Given the description of an element on the screen output the (x, y) to click on. 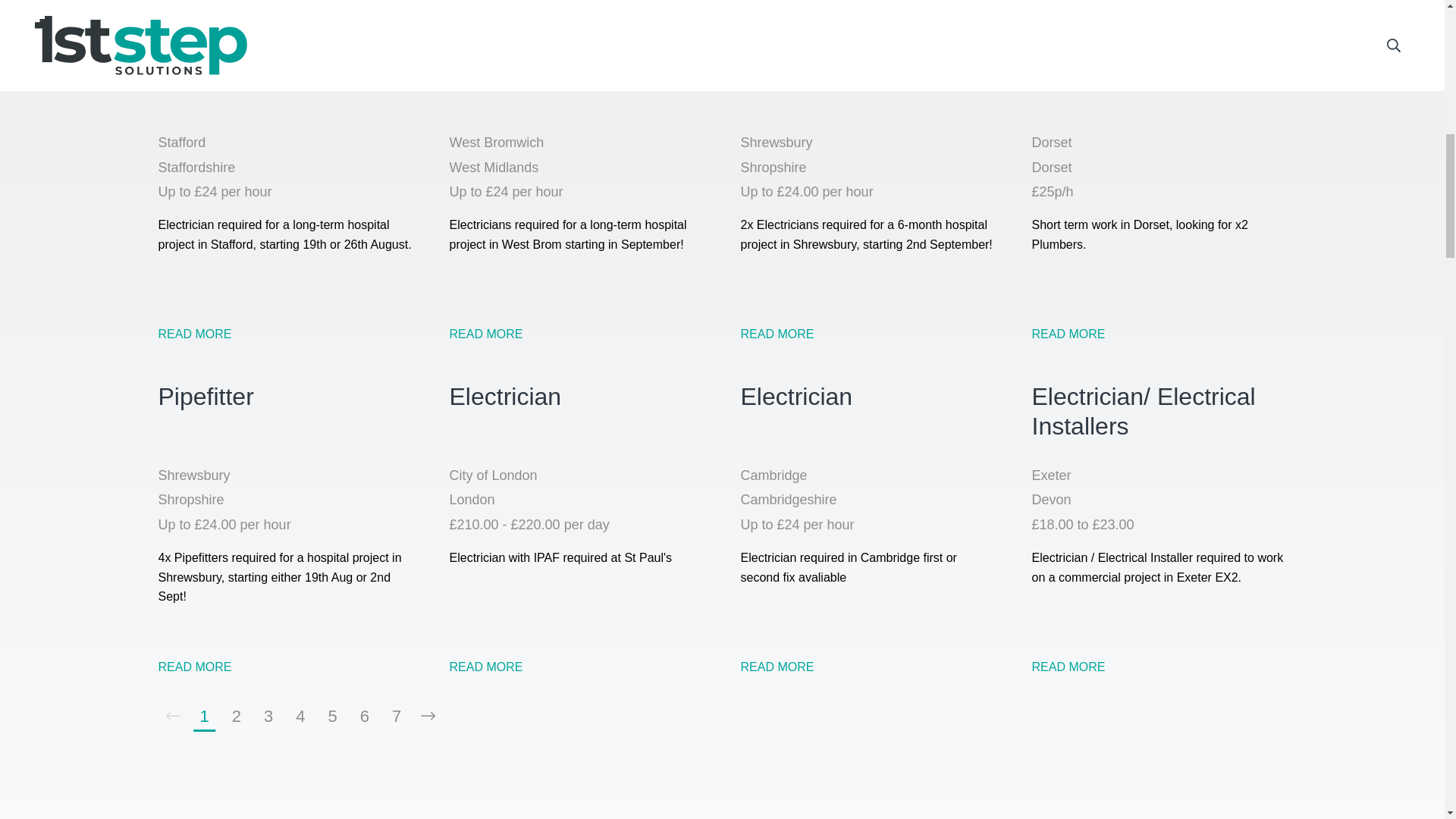
Electrician (866, 411)
READ MORE (776, 666)
READ MORE (1067, 666)
4 (299, 716)
Electrician (866, 78)
6 (364, 716)
Plumbers (1157, 78)
READ MORE (485, 666)
3 (267, 716)
READ MORE (776, 333)
7 (396, 716)
2 (236, 716)
READ MORE (194, 333)
Pipefitter (284, 411)
READ MORE (1067, 333)
